Given the description of an element on the screen output the (x, y) to click on. 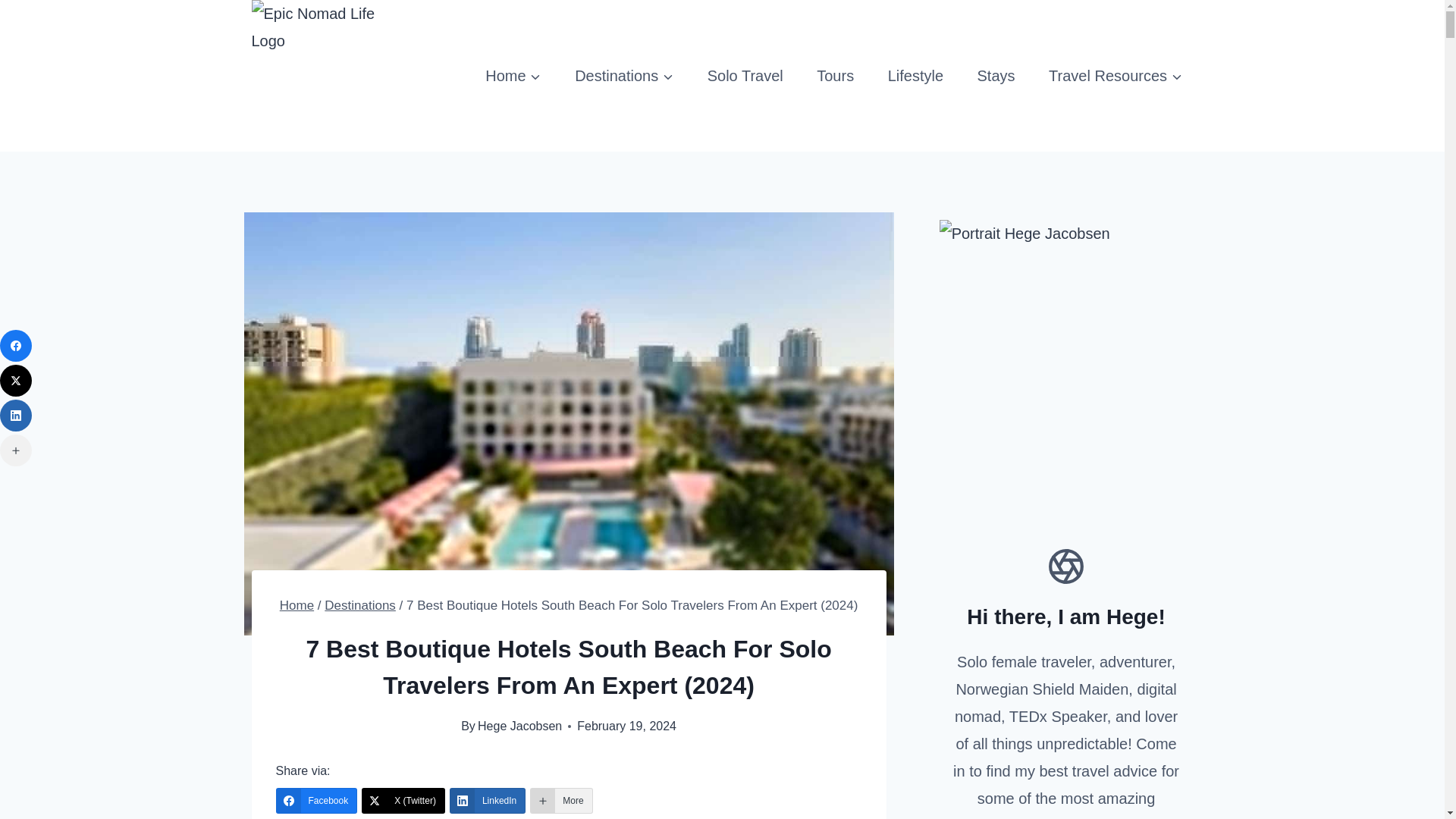
Lifestyle (914, 75)
Home (512, 75)
Tours (835, 75)
Travel Resources (1115, 75)
Solo Travel (744, 75)
More (560, 800)
LinkedIn (487, 800)
Facebook (317, 800)
Stays (996, 75)
Home (296, 605)
